Given the description of an element on the screen output the (x, y) to click on. 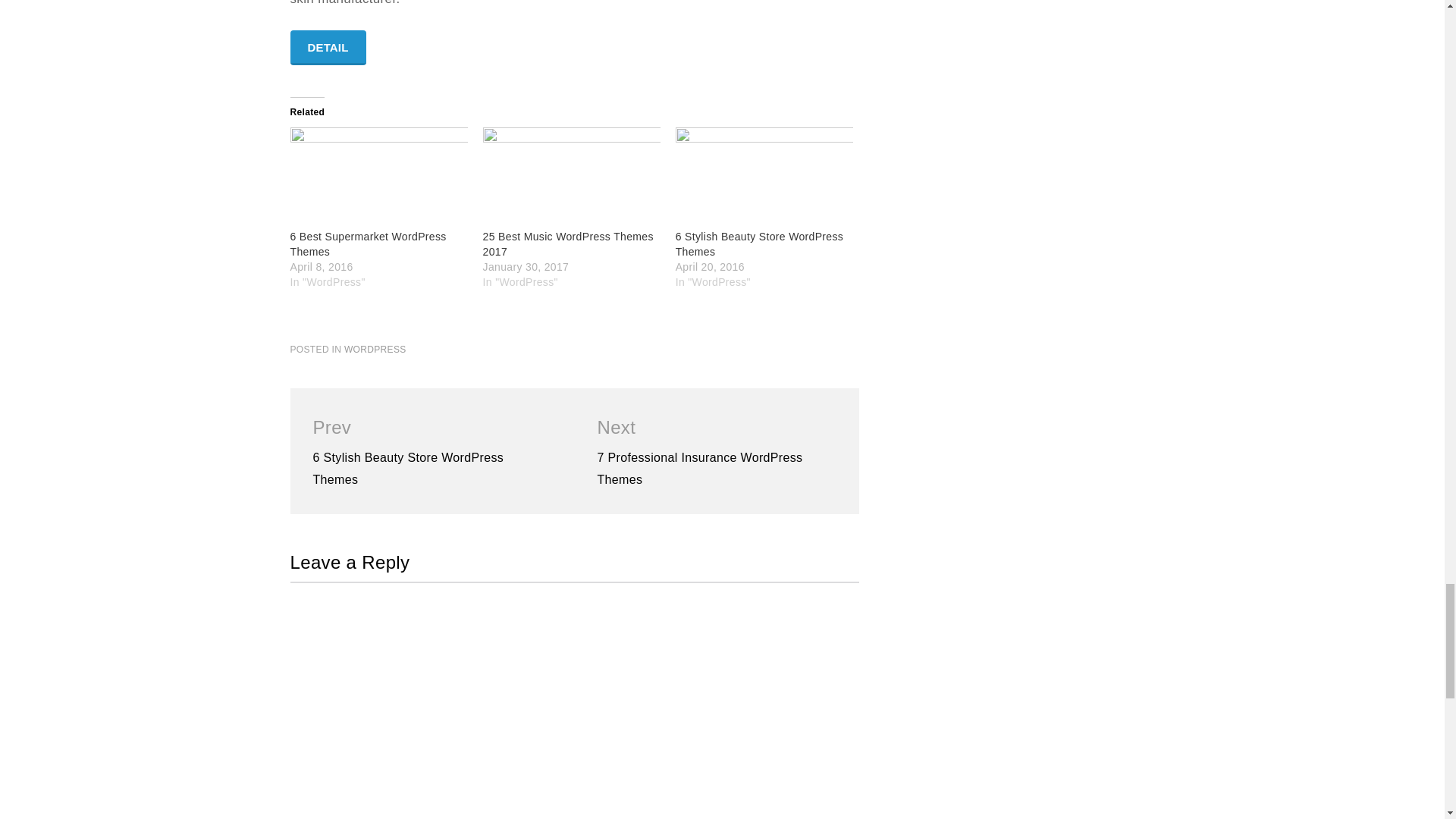
6 Best Supermarket WordPress Themes (367, 243)
25 Best Music WordPress Themes 2017 (572, 178)
DETAIL (327, 47)
6 Stylish Beauty Store WordPress Themes (764, 178)
6 Stylish Beauty Store WordPress Themes (759, 243)
25 Best Music WordPress Themes 2017 (568, 243)
6 Best Supermarket WordPress Themes (378, 178)
